Given the description of an element on the screen output the (x, y) to click on. 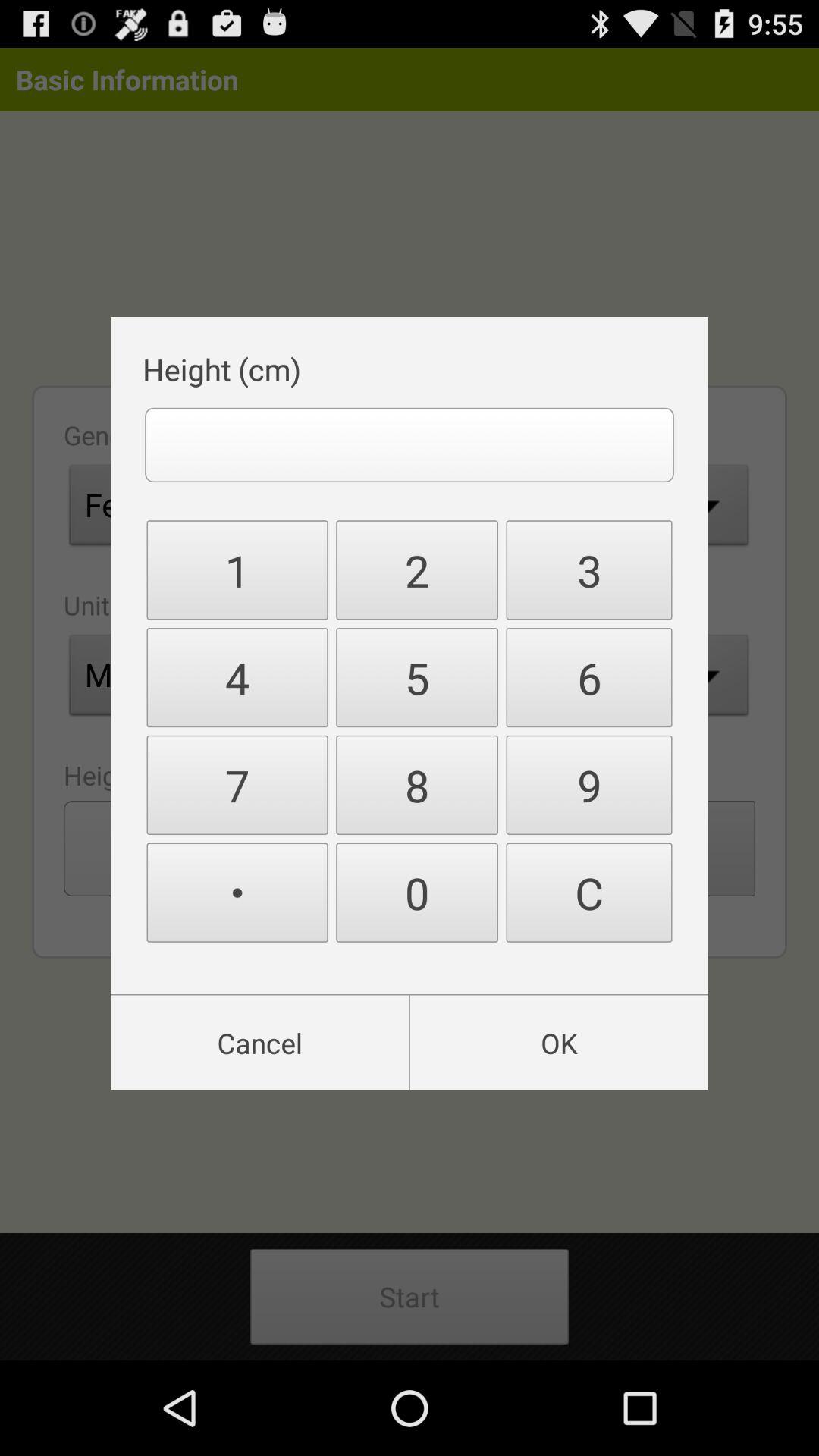
select 7 button (237, 784)
